Given the description of an element on the screen output the (x, y) to click on. 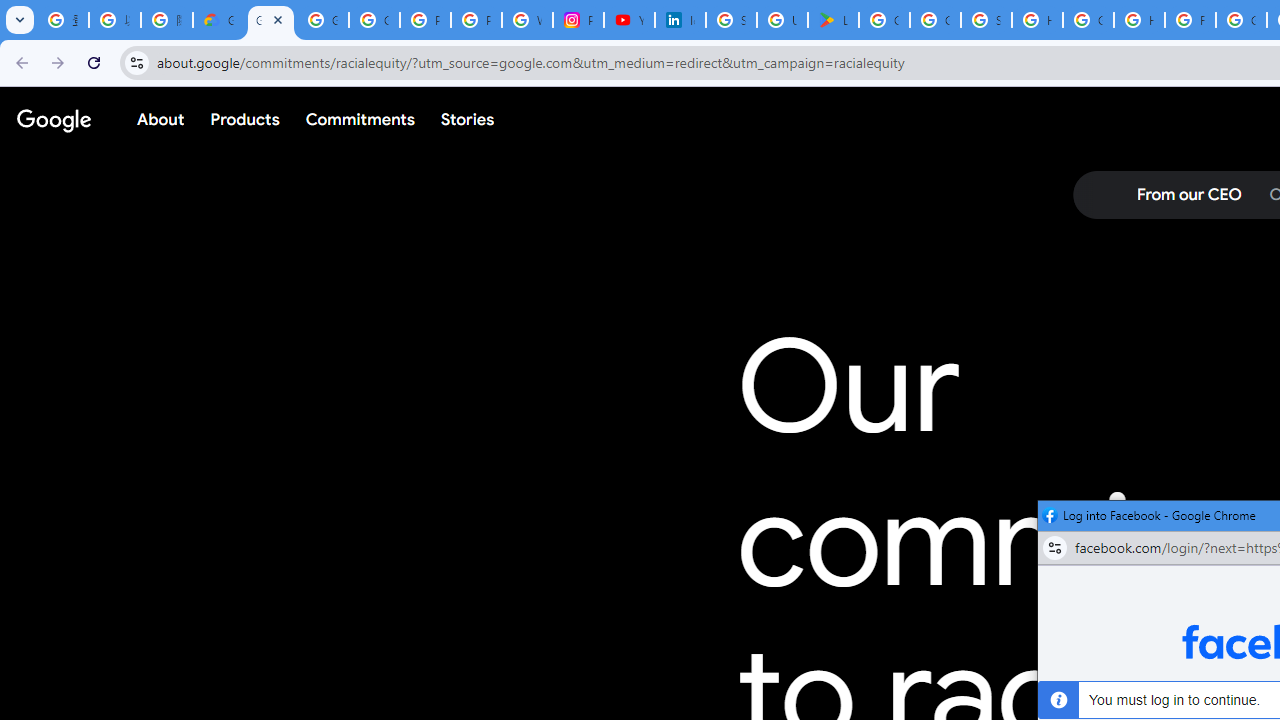
Privacy Help Center - Policies Help (475, 20)
Stories (467, 119)
Commitments (359, 119)
